Given the description of an element on the screen output the (x, y) to click on. 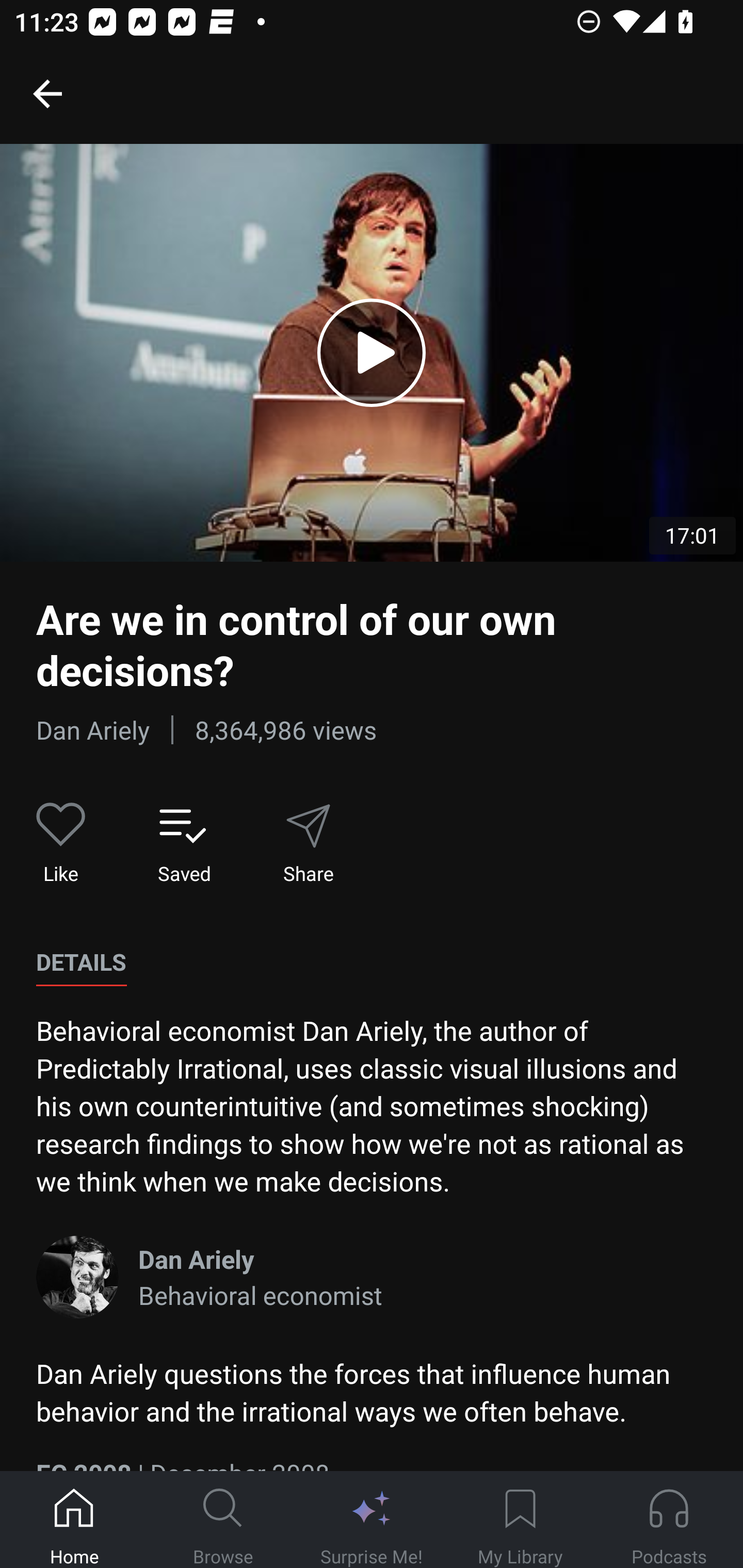
Home, back (47, 92)
Like (60, 843)
Saved (183, 843)
Share (308, 843)
DETAILS (80, 962)
Home (74, 1520)
Browse (222, 1520)
Surprise Me! (371, 1520)
My Library (519, 1520)
Podcasts (668, 1520)
